Given the description of an element on the screen output the (x, y) to click on. 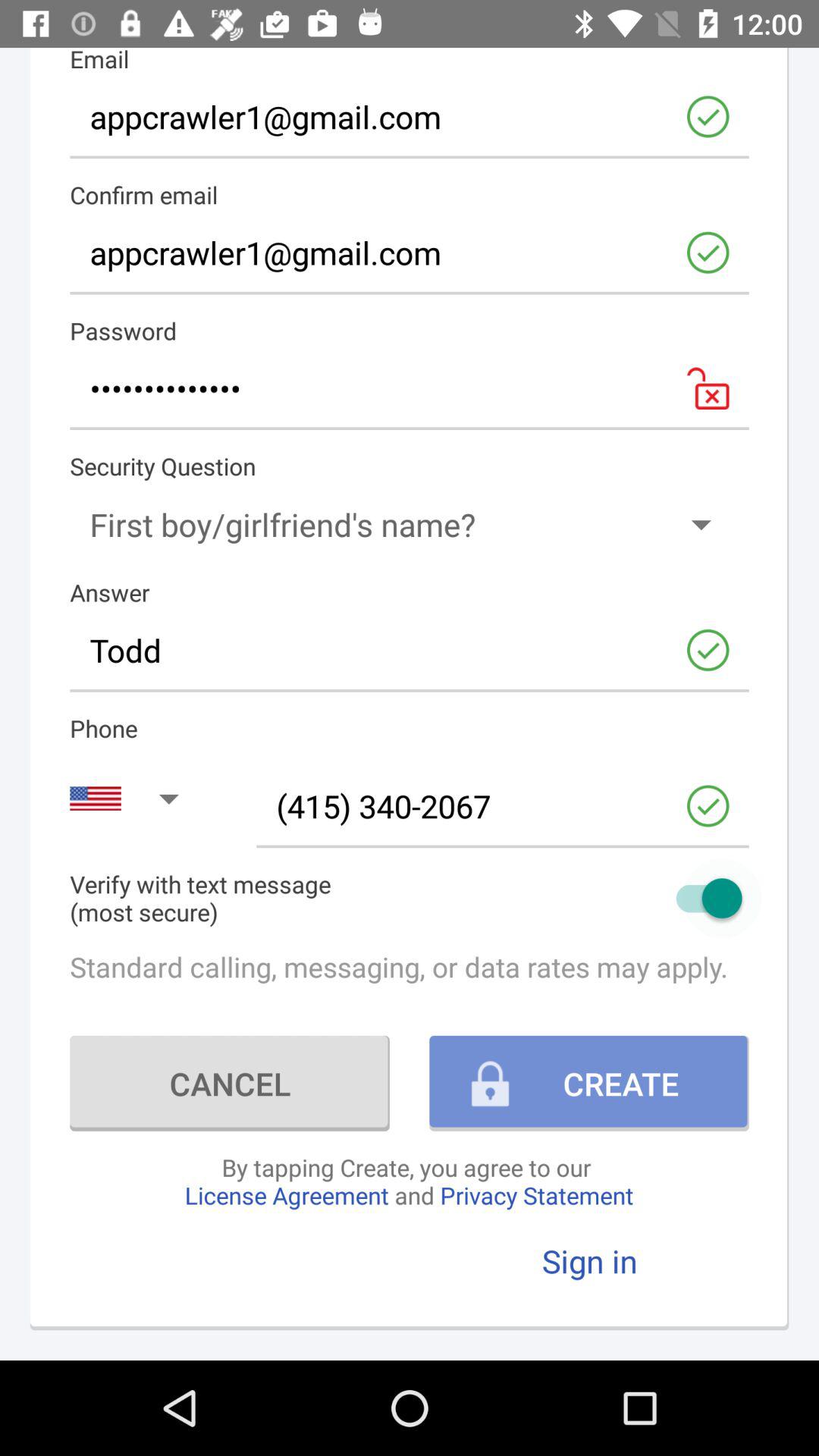
select item at the bottom left corner (229, 1083)
